Given the description of an element on the screen output the (x, y) to click on. 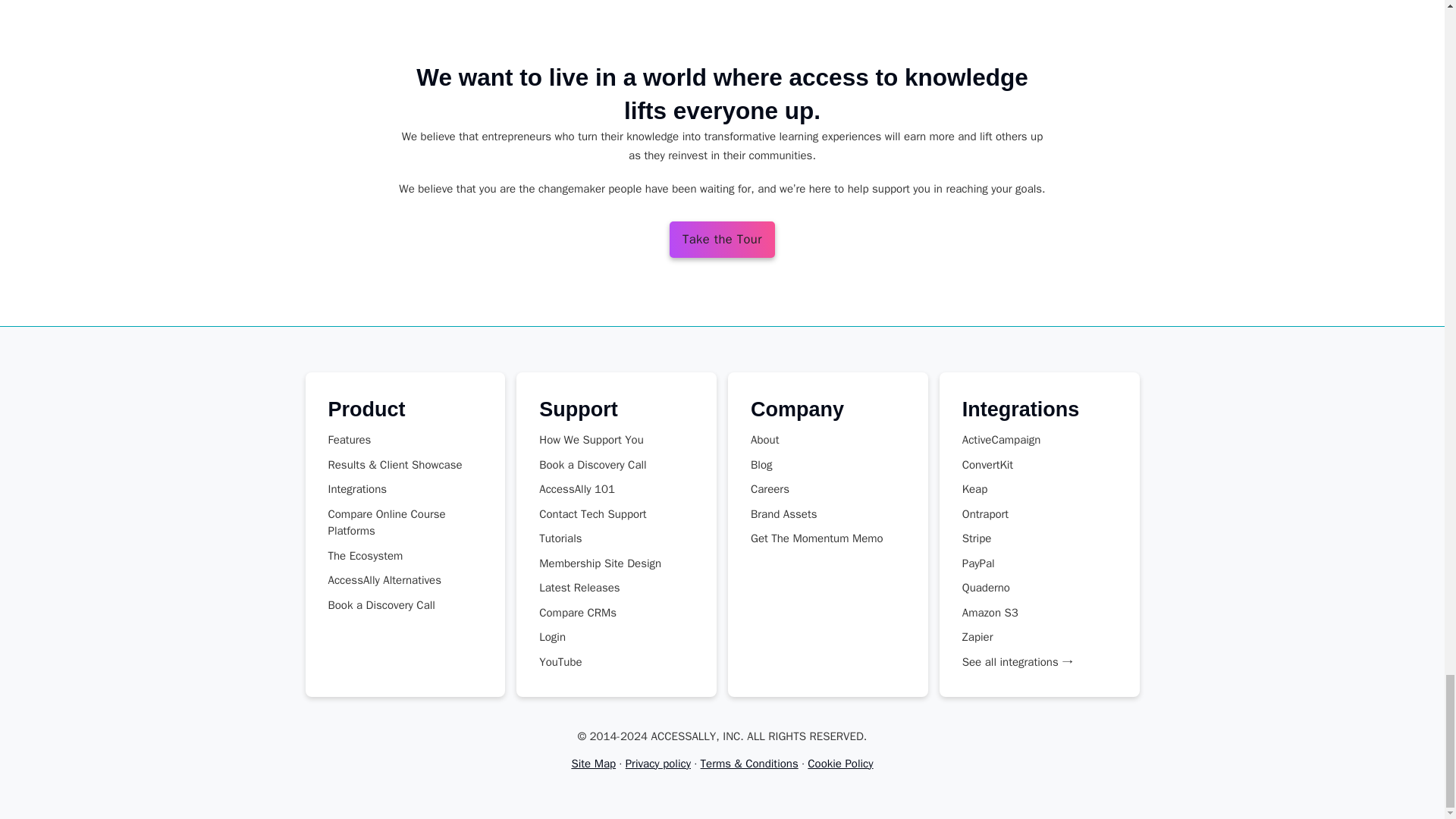
Contact Tech Support (601, 514)
How We Support You (601, 439)
Book a Discovery Call (404, 605)
Book a Discovery Call (601, 464)
Features (404, 439)
AccessAlly Alternatives (404, 580)
AccessAlly 101 (601, 489)
The Ecosystem (404, 555)
Compare Online Course Platforms (404, 522)
Take the Tour (721, 239)
